Given the description of an element on the screen output the (x, y) to click on. 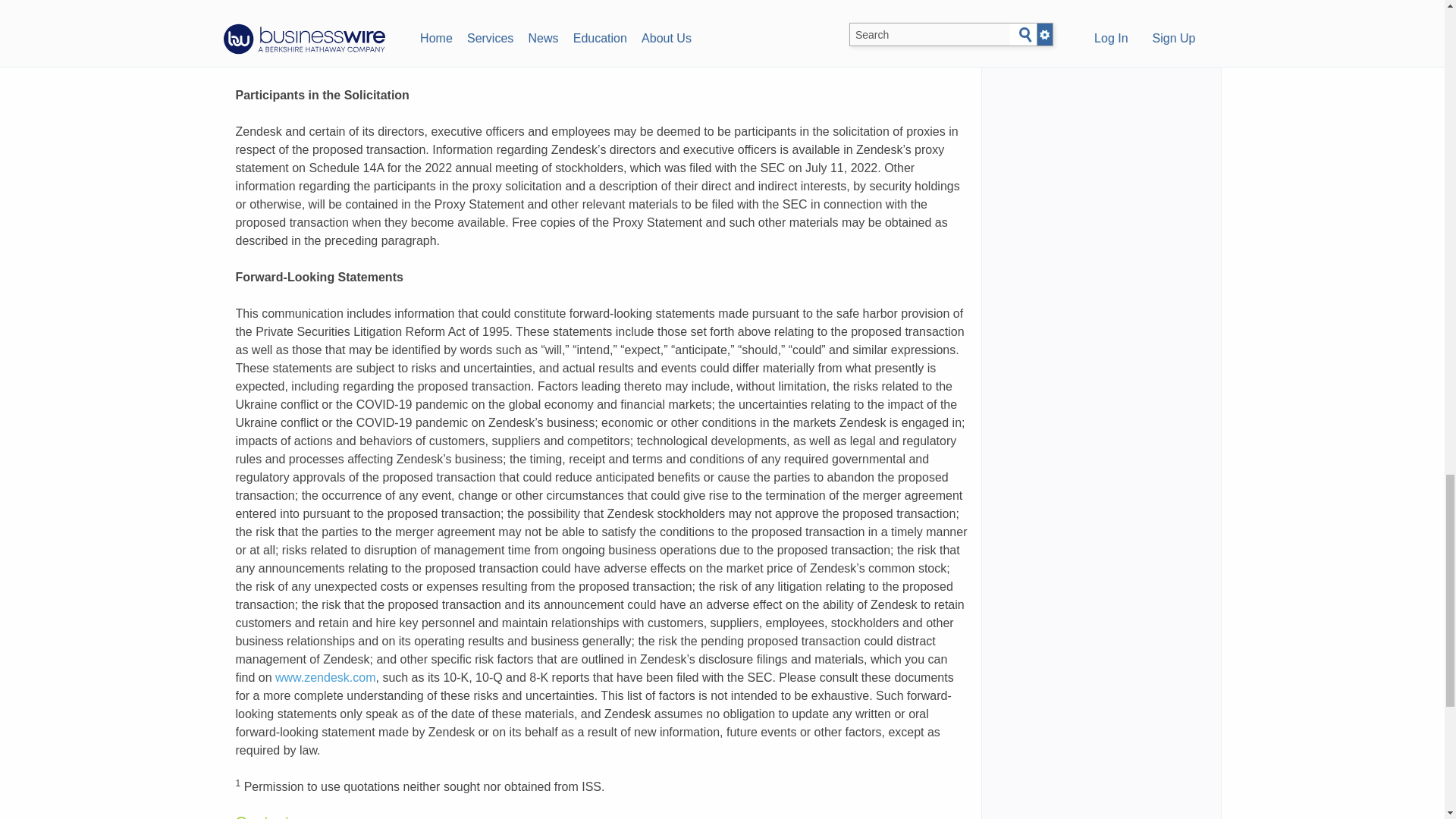
www.zendesk.com (840, 58)
www.zendesk.com (325, 676)
www.sec.gov (528, 21)
